Given the description of an element on the screen output the (x, y) to click on. 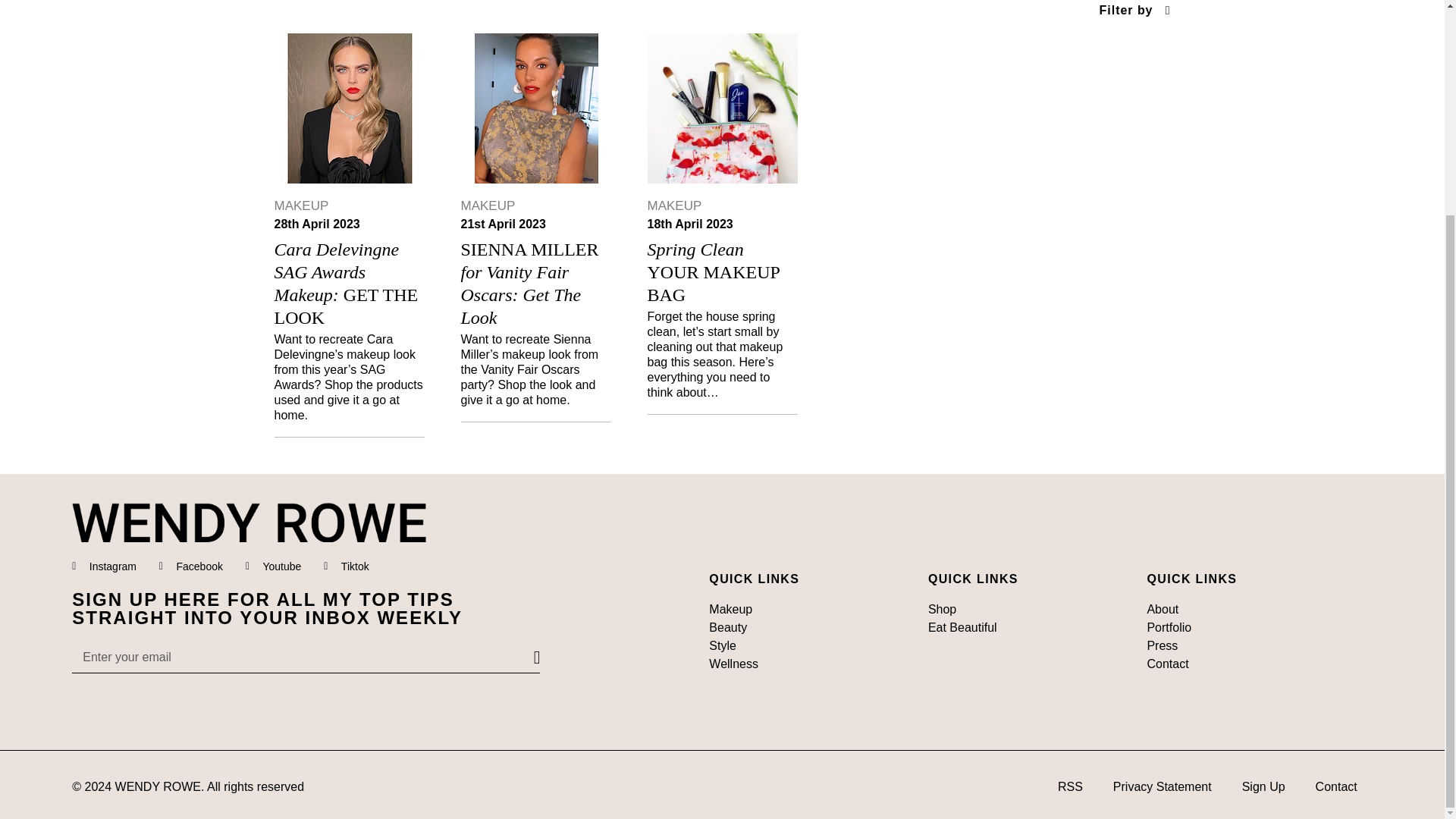
View all posts in Makeup (674, 205)
View all posts in Makeup (302, 205)
View all posts in Makeup (488, 205)
